Given the description of an element on the screen output the (x, y) to click on. 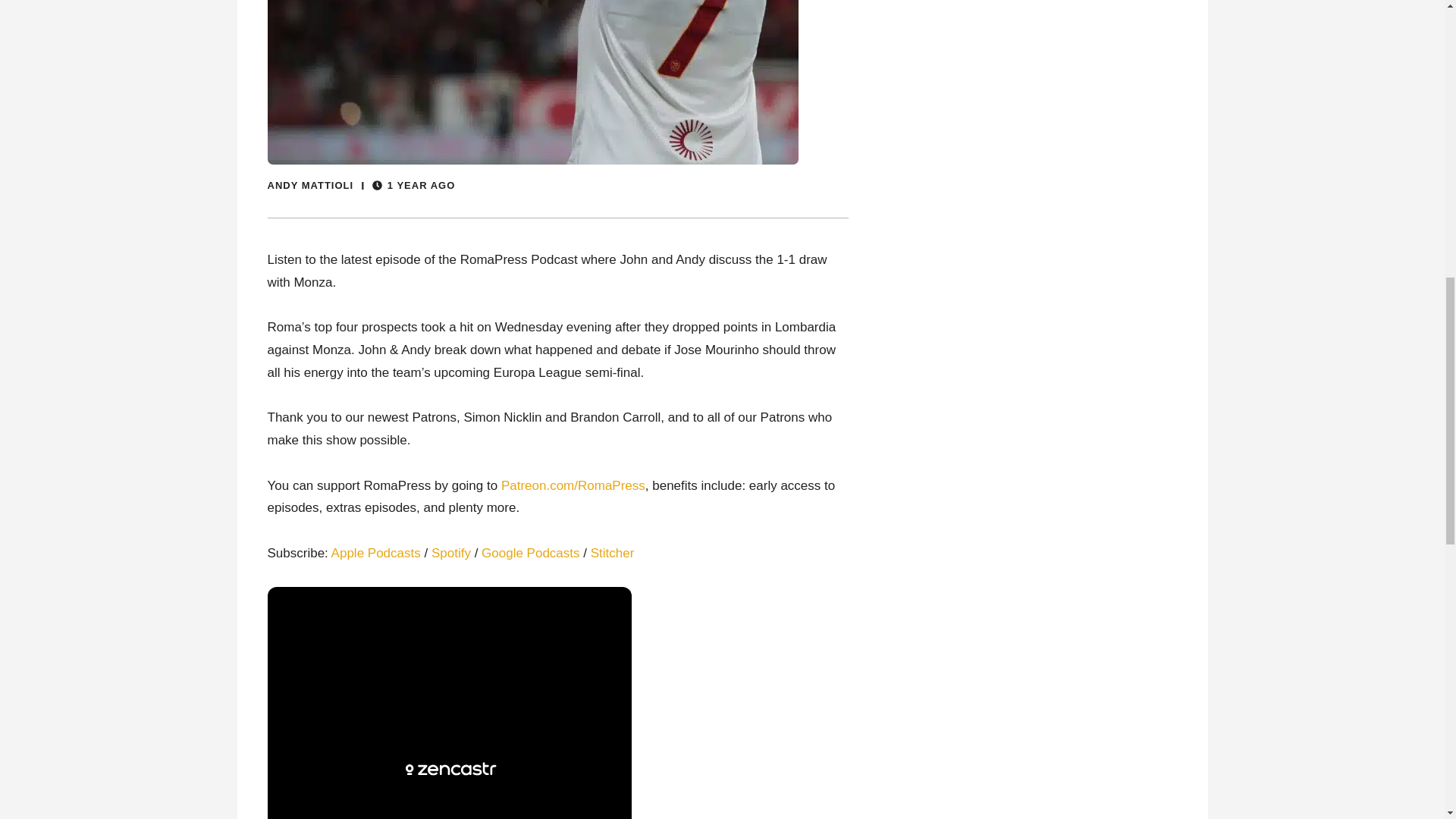
Google Podcasts (530, 553)
Spotify (450, 553)
Apple Podcasts (375, 553)
Stitcher (612, 553)
